Given the description of an element on the screen output the (x, y) to click on. 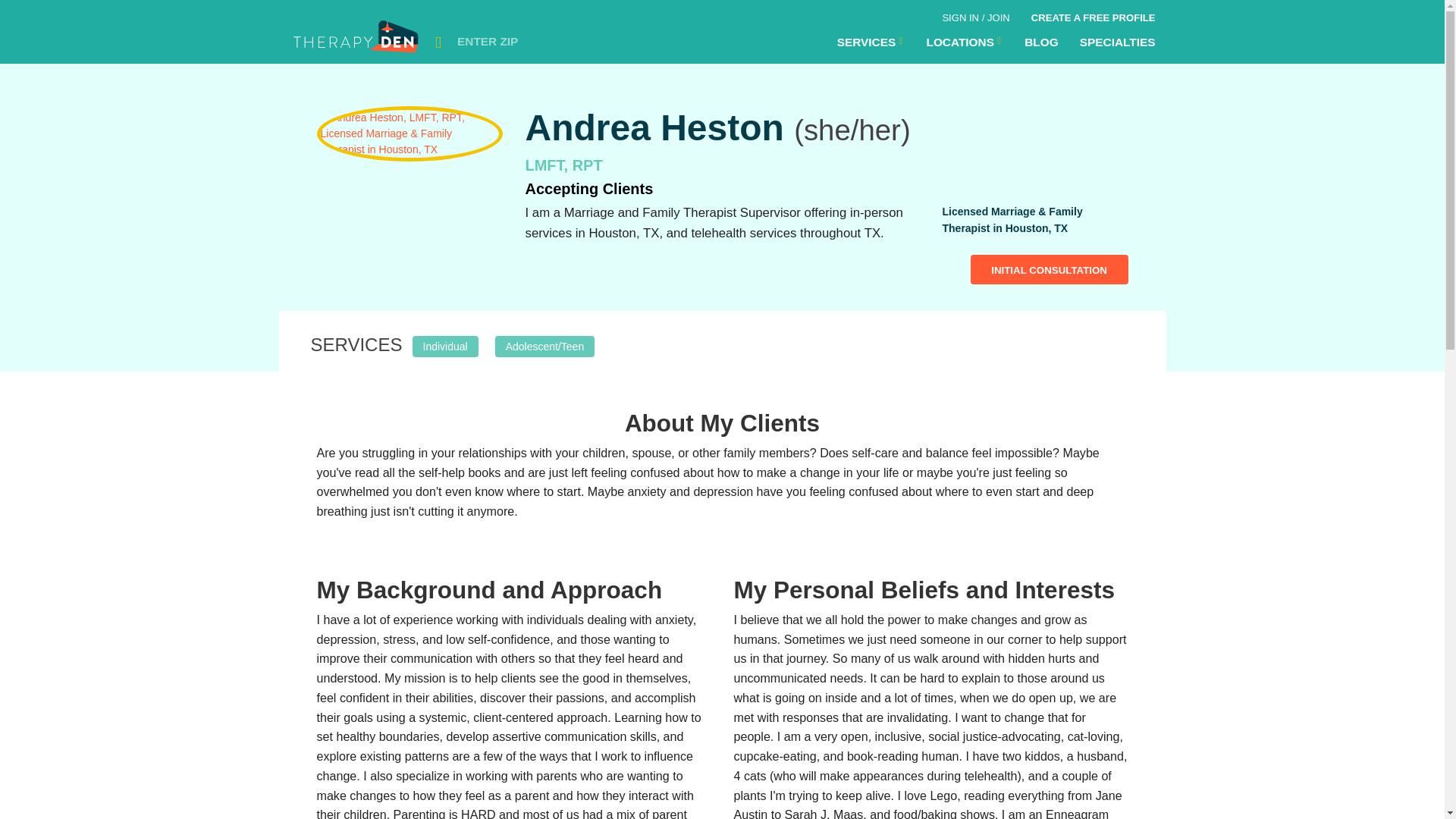
TherapyDen Home (357, 41)
Send email to Andrea Heston (1049, 269)
Locations (964, 41)
CREATE A FREE PROFILE (1093, 15)
INITIAL CONSULTATION (1049, 269)
LOCATIONS (964, 41)
SERVICES (871, 41)
BLOG (1040, 41)
SPECIALTIES (1117, 41)
Specialties (1117, 41)
Individual (445, 344)
Blog (1040, 41)
Locations (871, 41)
